Given the description of an element on the screen output the (x, y) to click on. 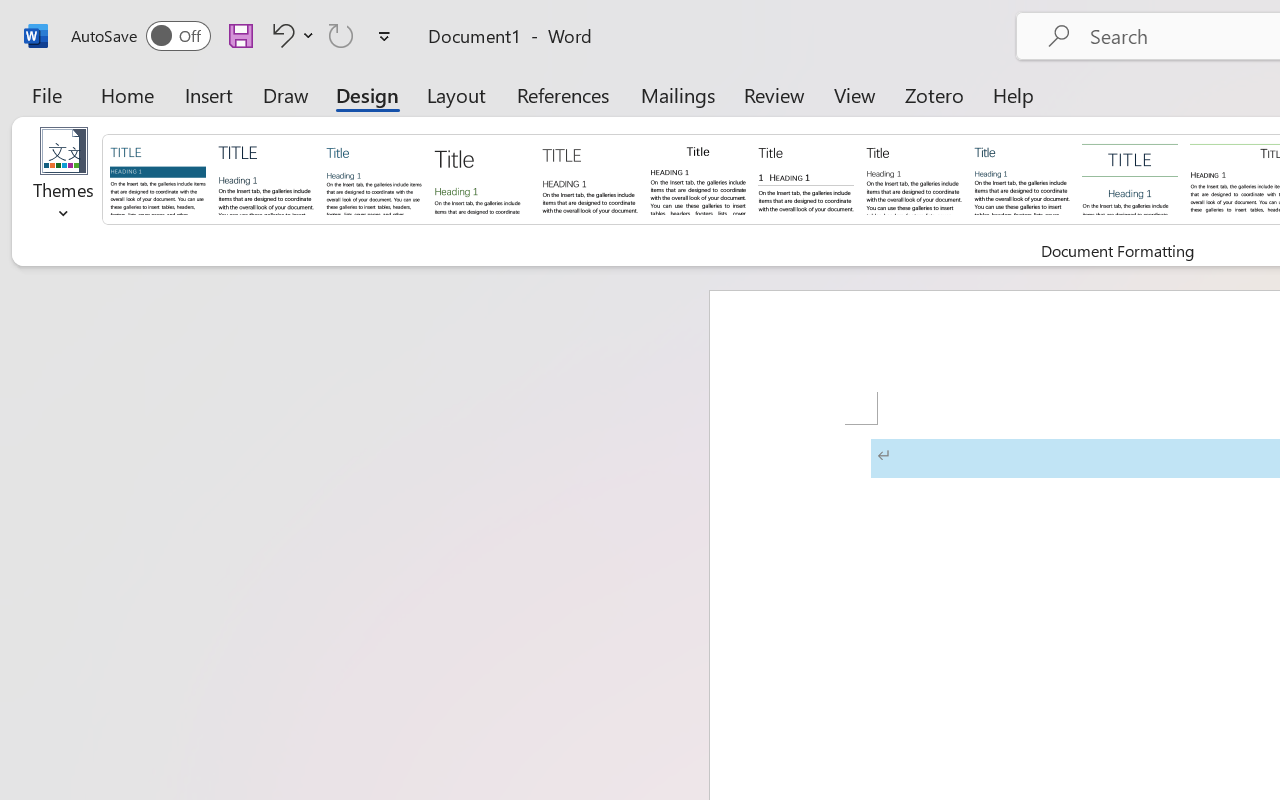
Document (157, 178)
Black & White (Capitalized) (589, 178)
Undo Apply Quick Style (280, 35)
Black & White (Classic) (697, 178)
Casual (1021, 178)
Black & White (Numbered) (806, 178)
Can't Repeat (341, 35)
Themes (63, 179)
